Given the description of an element on the screen output the (x, y) to click on. 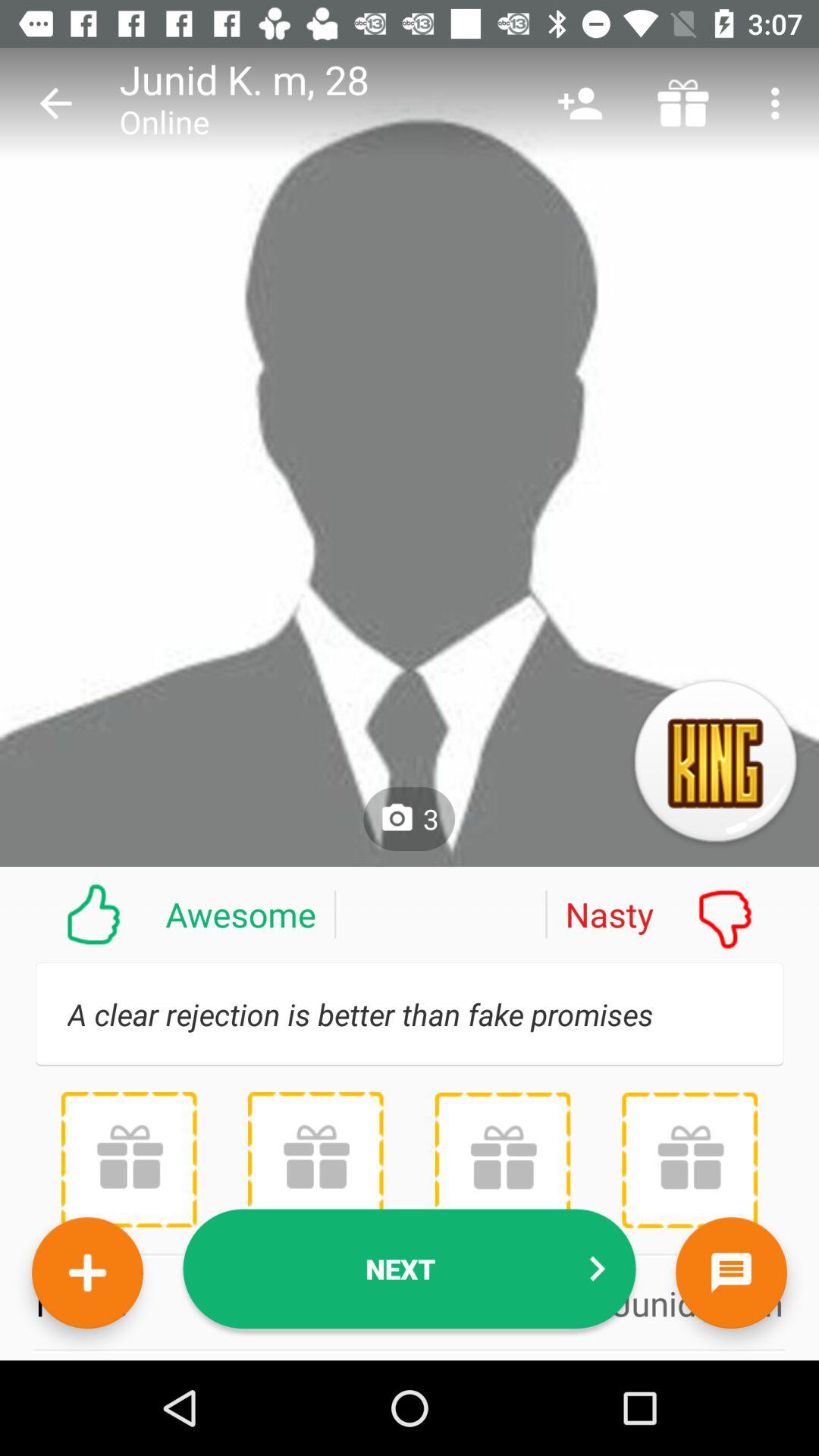
press icon to the left of the junid k. icon (55, 103)
